Given the description of an element on the screen output the (x, y) to click on. 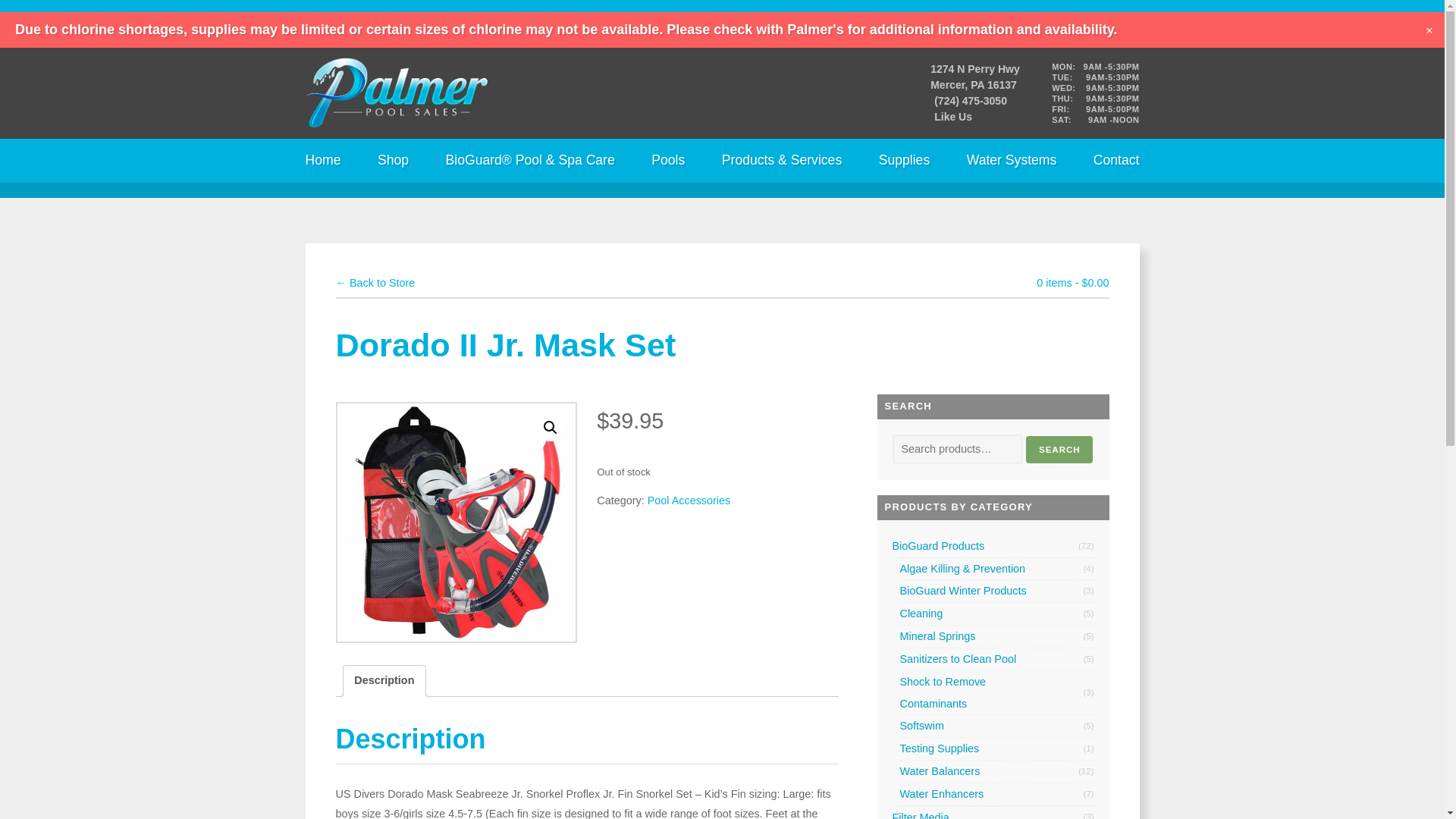
View your shopping cart (1072, 282)
Contact (1116, 160)
Like Us (953, 116)
Water Systems (1011, 160)
Dorado II Jr. Mask Set 4 (455, 522)
Palmer Pool Sales (395, 93)
Supplies (904, 160)
